Given the description of an element on the screen output the (x, y) to click on. 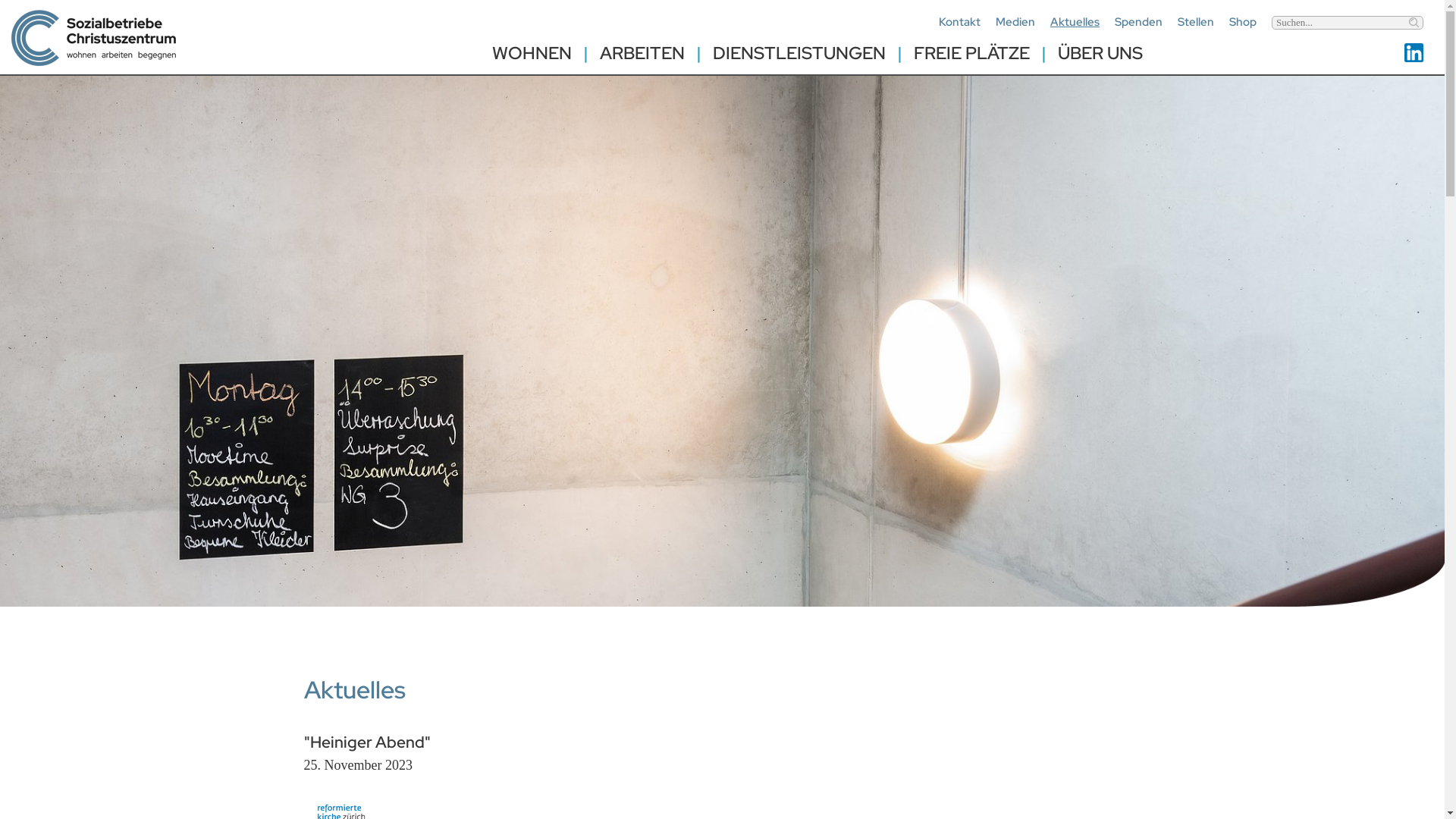
Aktuelles Element type: text (1074, 21)
Kontakt Element type: text (959, 21)
Shop Element type: text (1242, 21)
WOHNEN Element type: text (531, 52)
ARBEITEN Element type: text (641, 52)
Stellen Element type: text (1195, 21)
Medien Element type: text (1015, 21)
Spenden Element type: text (1138, 21)
DIENSTLEISTUNGEN Element type: text (798, 52)
